Given the description of an element on the screen output the (x, y) to click on. 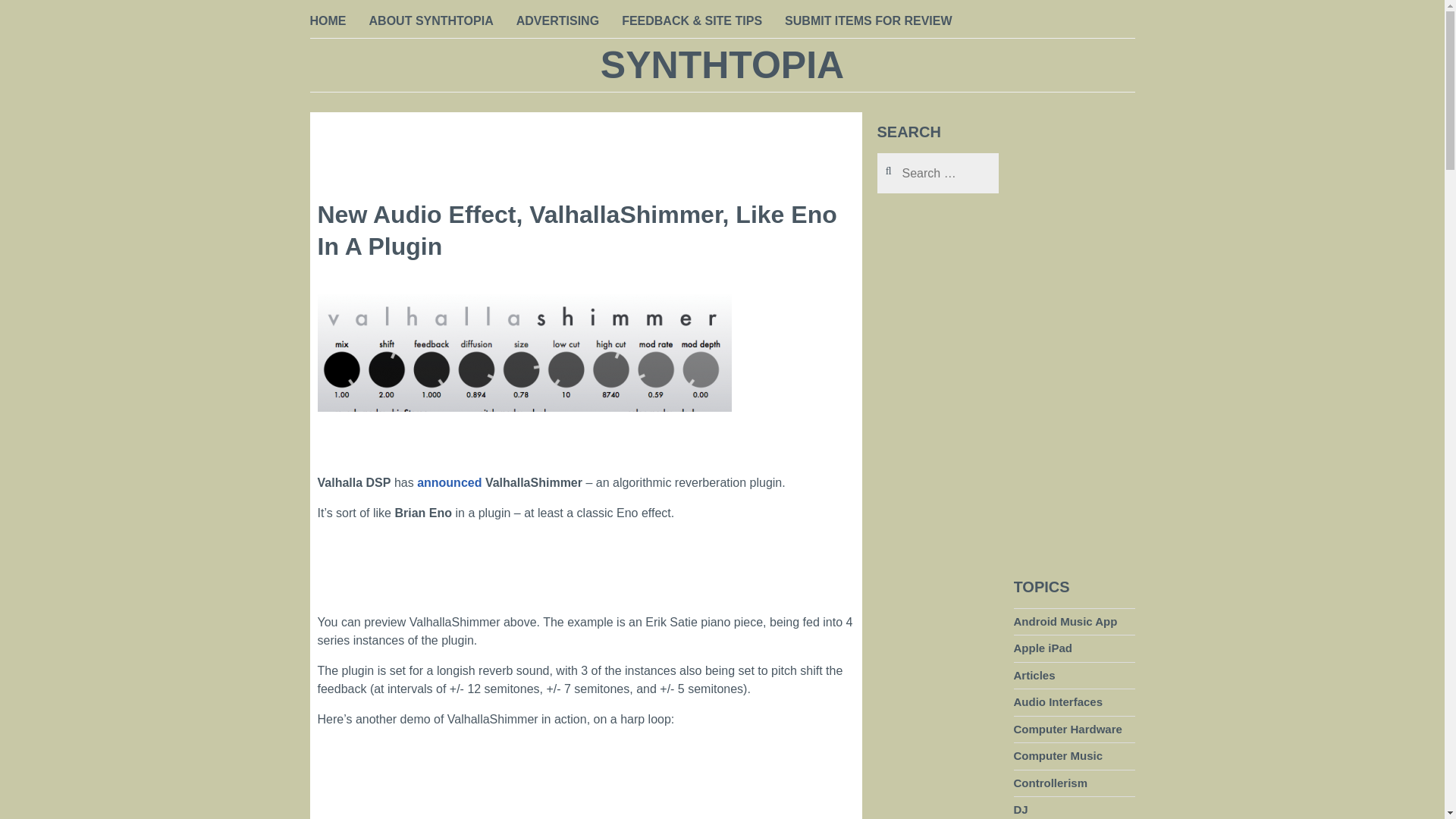
ABOUT SYNTHTOPIA (431, 21)
ADVERTISING (557, 21)
HOME (327, 21)
valhalla-shimmers (523, 375)
SUBMIT ITEMS FOR REVIEW (868, 21)
SYNTHTOPIA (721, 65)
announced (448, 482)
